Given the description of an element on the screen output the (x, y) to click on. 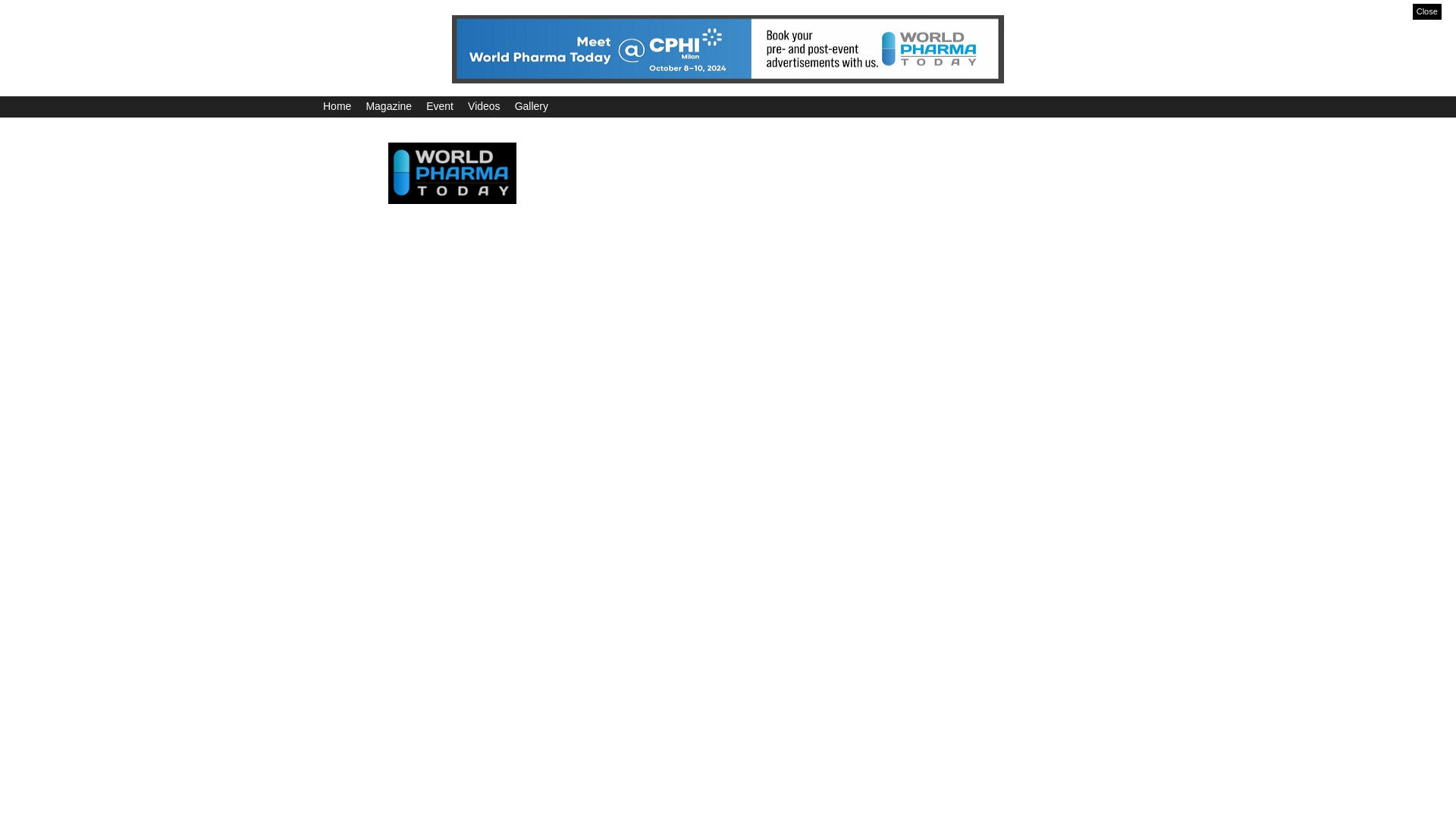
Gallery (531, 105)
World Pharma Today (451, 171)
Home (336, 105)
Magazine (388, 105)
Videos (483, 105)
Event (439, 105)
